Given the description of an element on the screen output the (x, y) to click on. 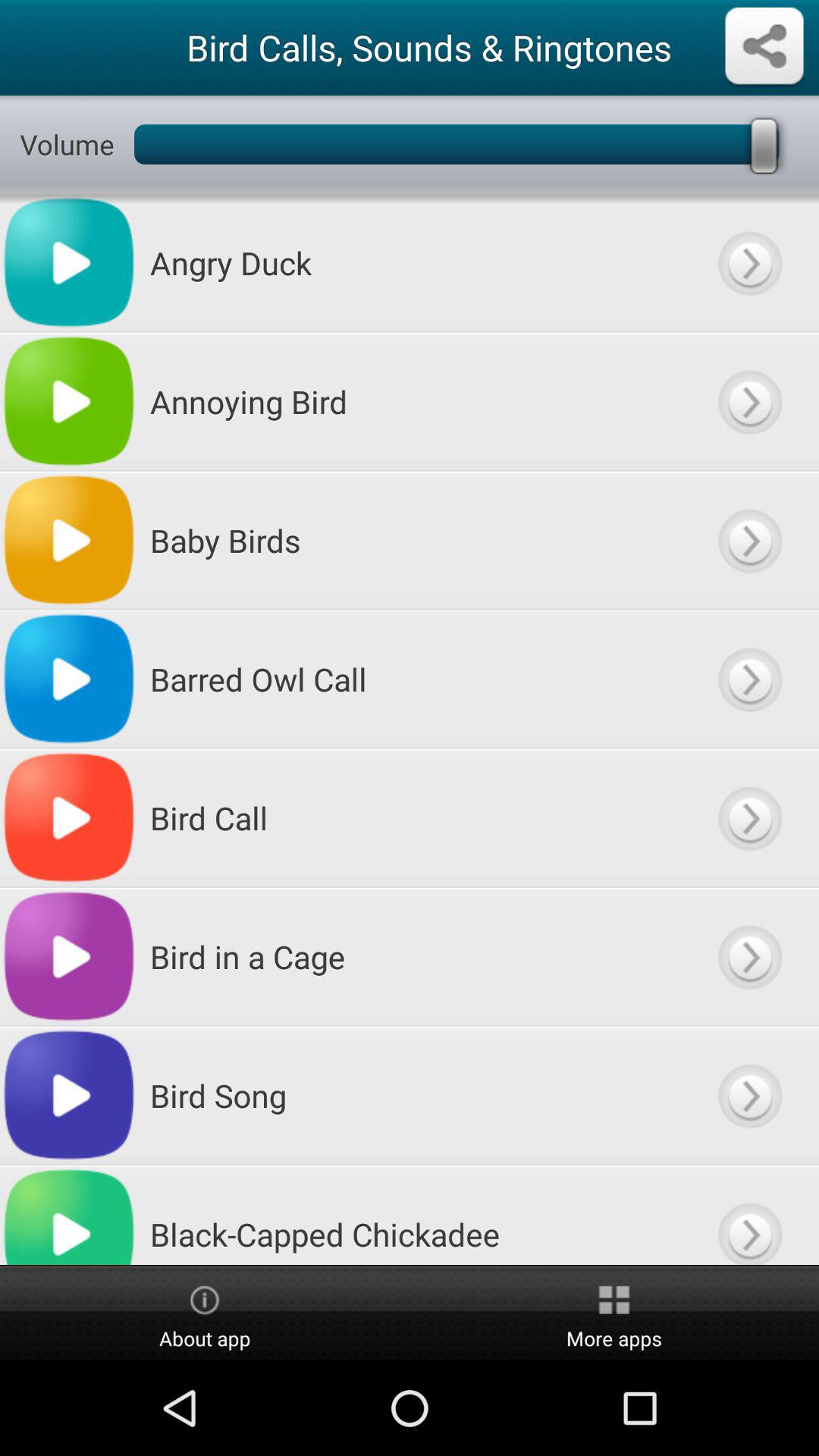
go for more option for black capped (749, 1214)
